Given the description of an element on the screen output the (x, y) to click on. 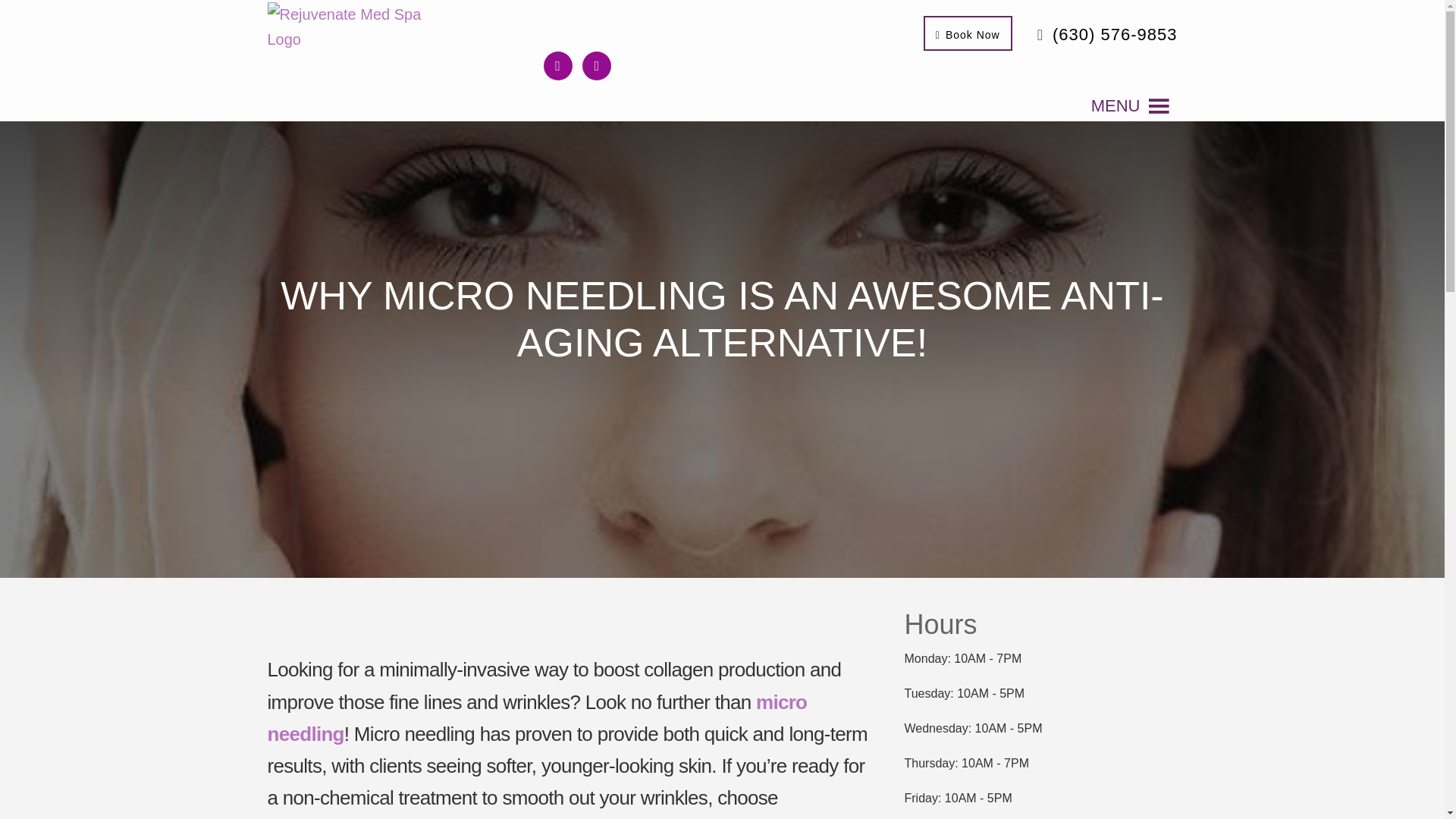
Facebook (557, 64)
Book Now (967, 32)
facebook (557, 64)
instagram (596, 64)
Instagram (596, 64)
